Given the description of an element on the screen output the (x, y) to click on. 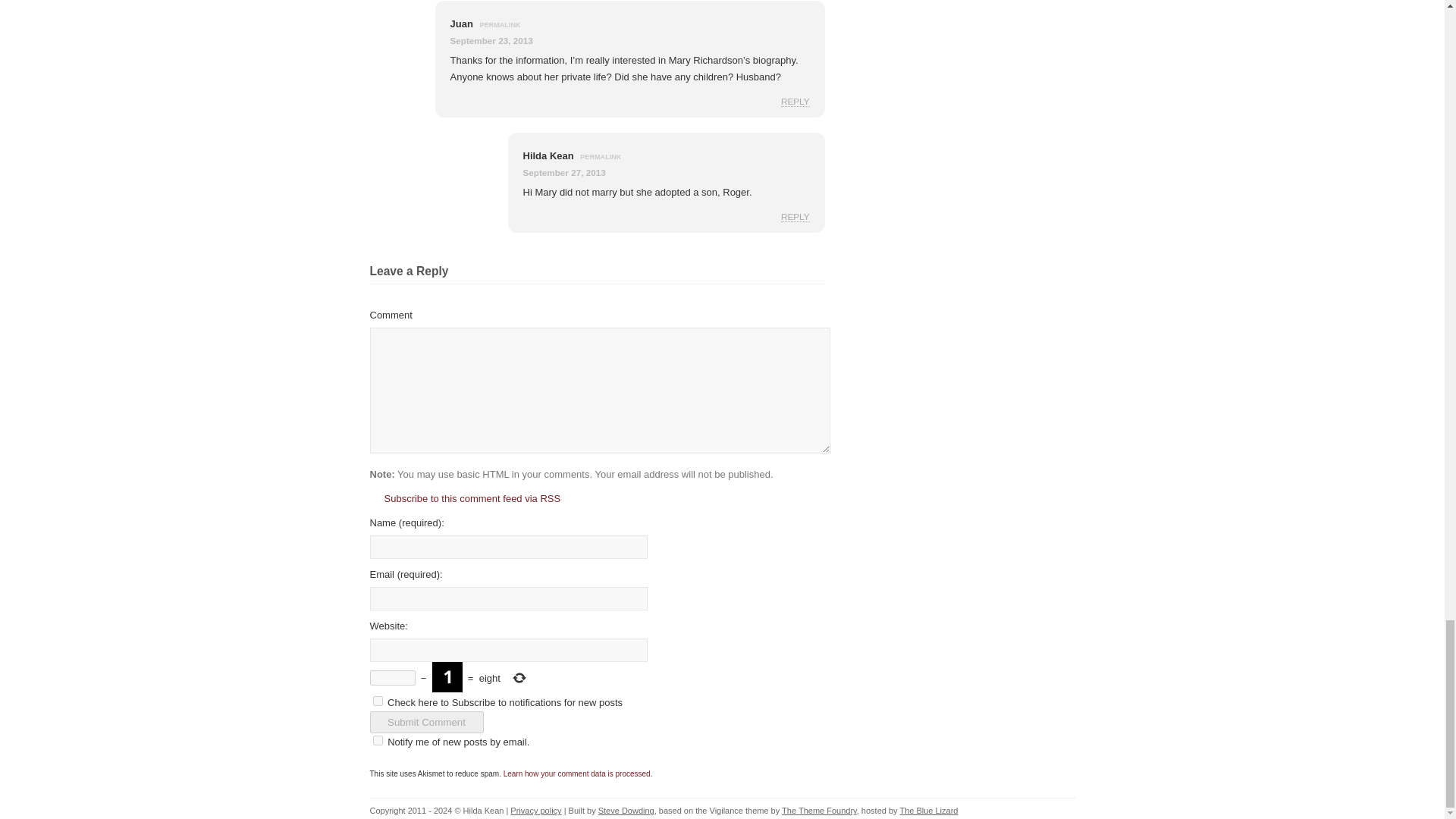
subscribe (377, 740)
1 (377, 700)
Submit Comment (426, 722)
